Given the description of an element on the screen output the (x, y) to click on. 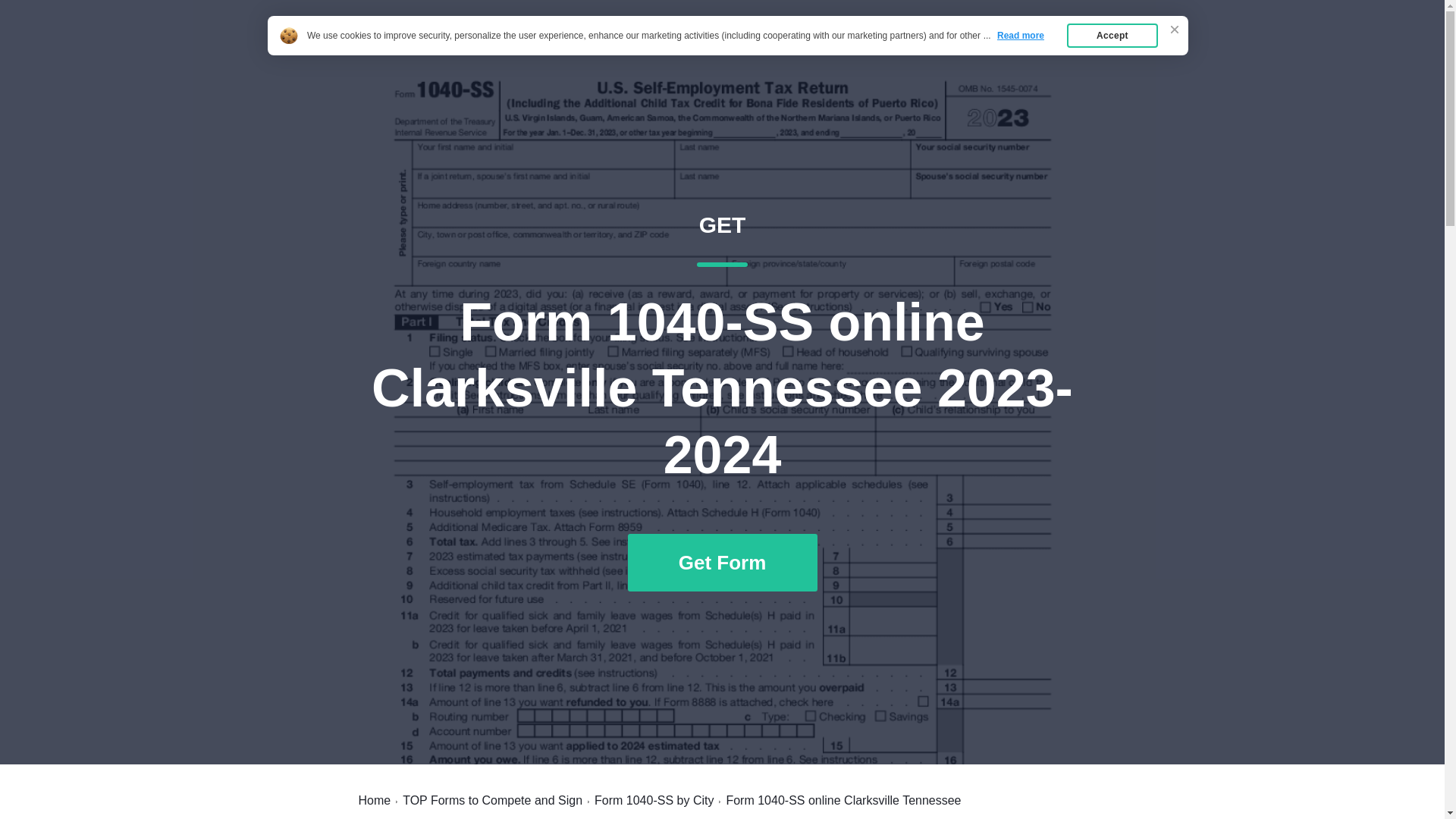
Form 1040-SS by City (653, 800)
Home (987, 47)
Form 1040 Ss (412, 46)
Home (374, 800)
TOP Forms to Compete and Sign (492, 800)
Top Forms (1062, 47)
